Given the description of an element on the screen output the (x, y) to click on. 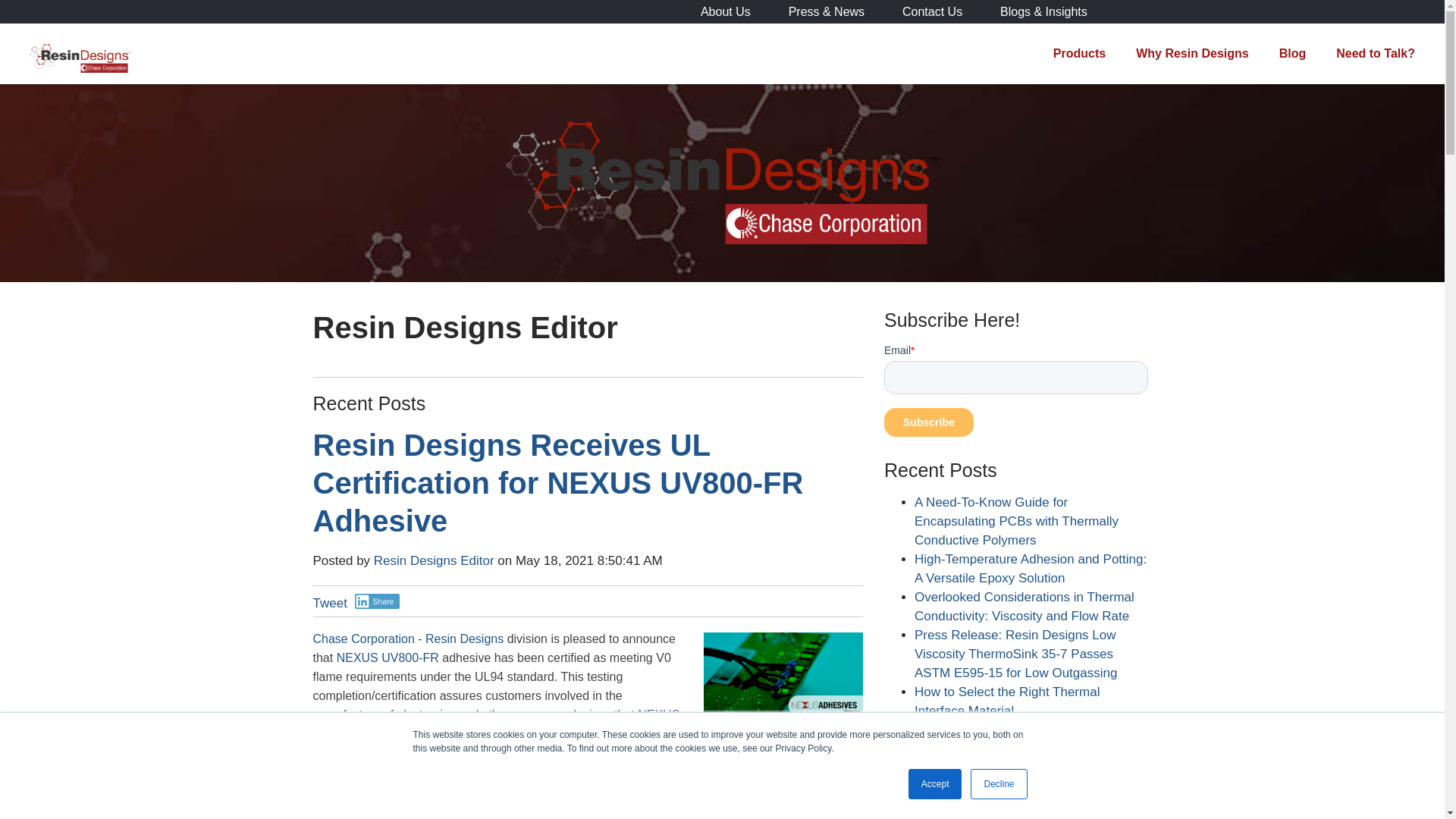
About Us (725, 11)
Subscribe (928, 421)
Contact Us (932, 11)
Decline (998, 784)
Blog (1292, 53)
Products (1079, 53)
Accept (935, 784)
Need to Talk? (1374, 53)
Why Resin Designs (1192, 53)
